Given the description of an element on the screen output the (x, y) to click on. 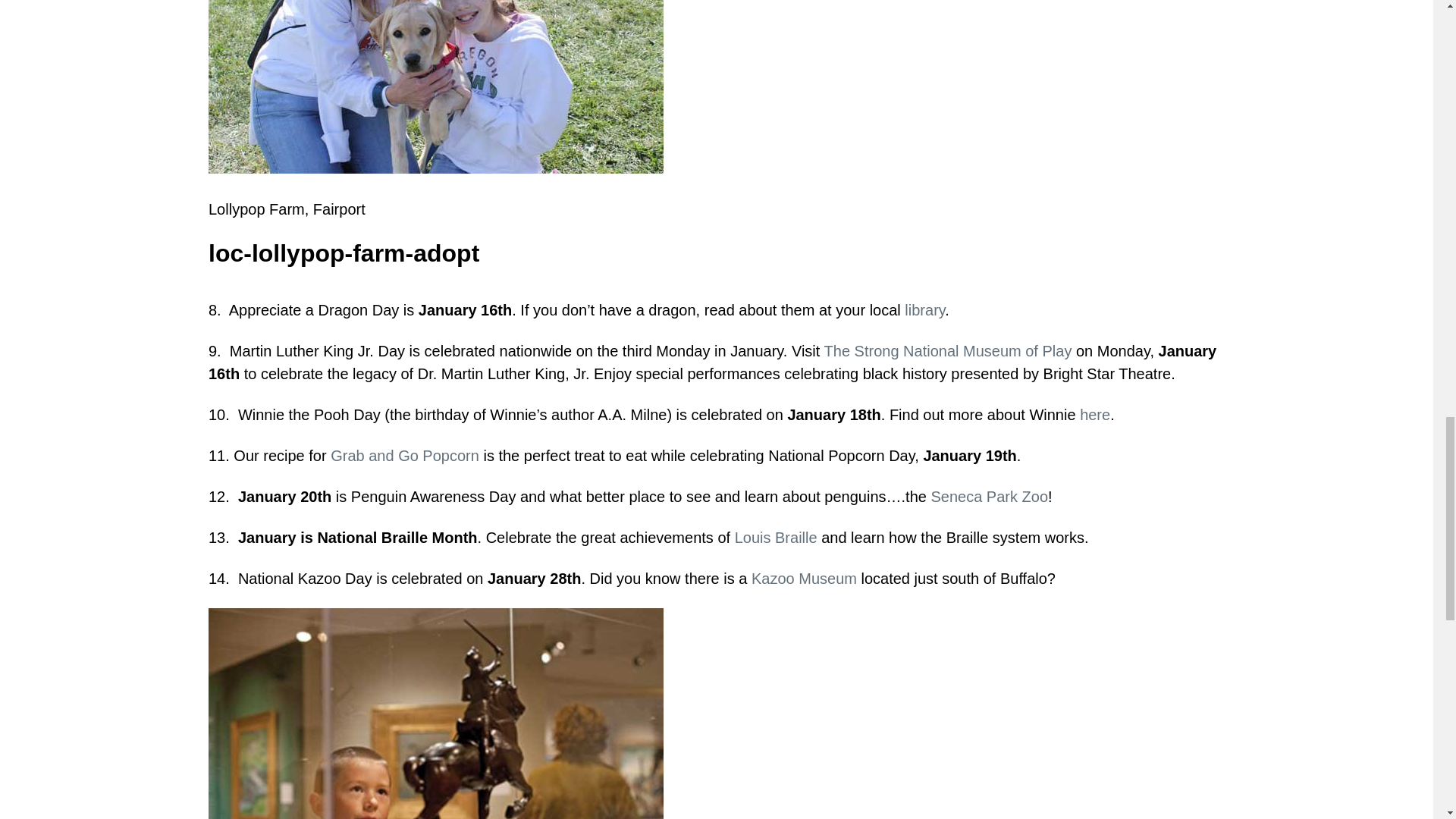
loc-lollypop-farm-adopt (435, 86)
MAG Gallery (435, 713)
